Given the description of an element on the screen output the (x, y) to click on. 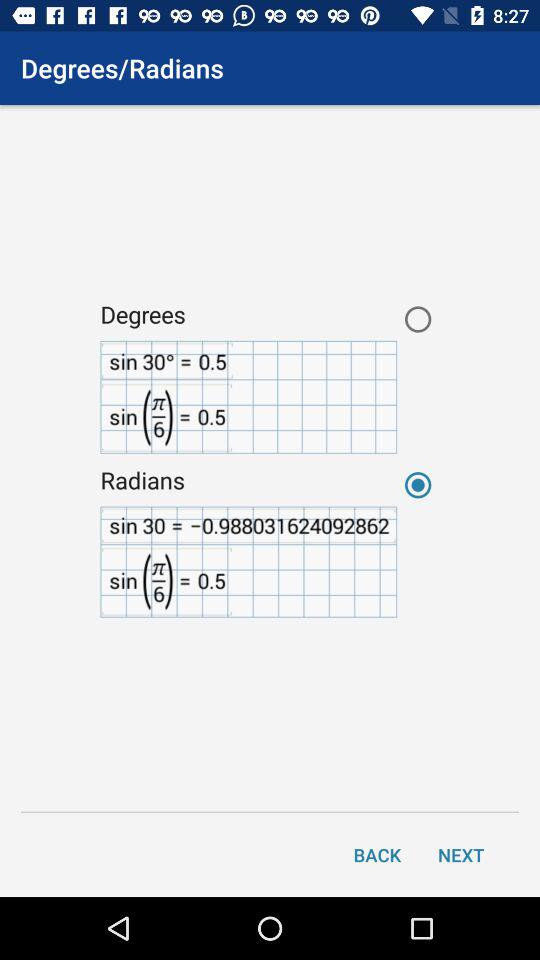
jump until the next (461, 854)
